Given the description of an element on the screen output the (x, y) to click on. 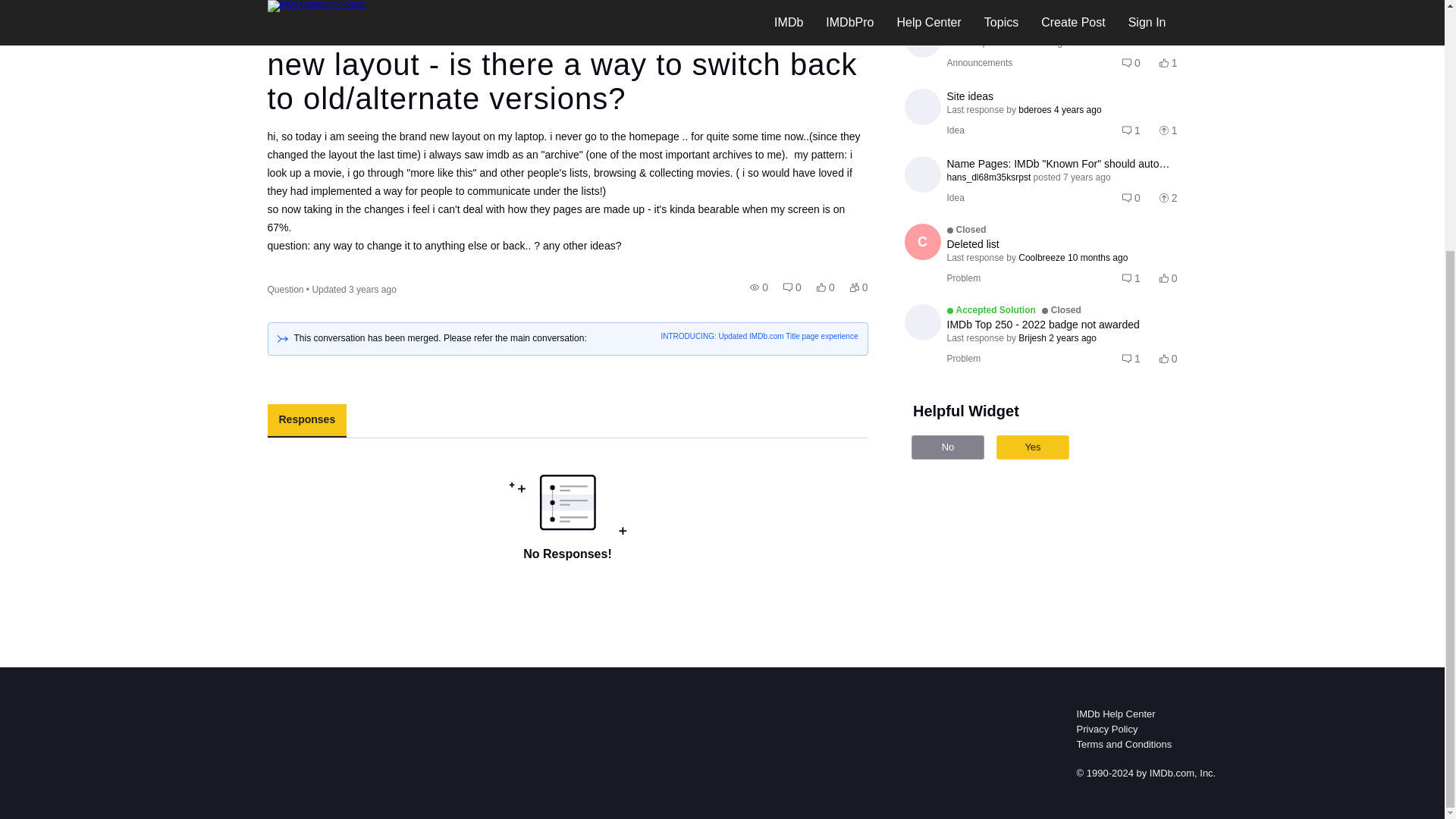
Michelle (922, 39)
C (922, 241)
Deleted list (1061, 243)
IMDb Top 250 - 2022 badge not awarded (1061, 324)
INTRODUCING: Updated IMDb.com Title page experience (759, 336)
Yes (1031, 446)
Site ideas (1061, 96)
IMDb Top 250 - 2022 badge not awarded (1071, 257)
Michelle (1061, 324)
